Given the description of an element on the screen output the (x, y) to click on. 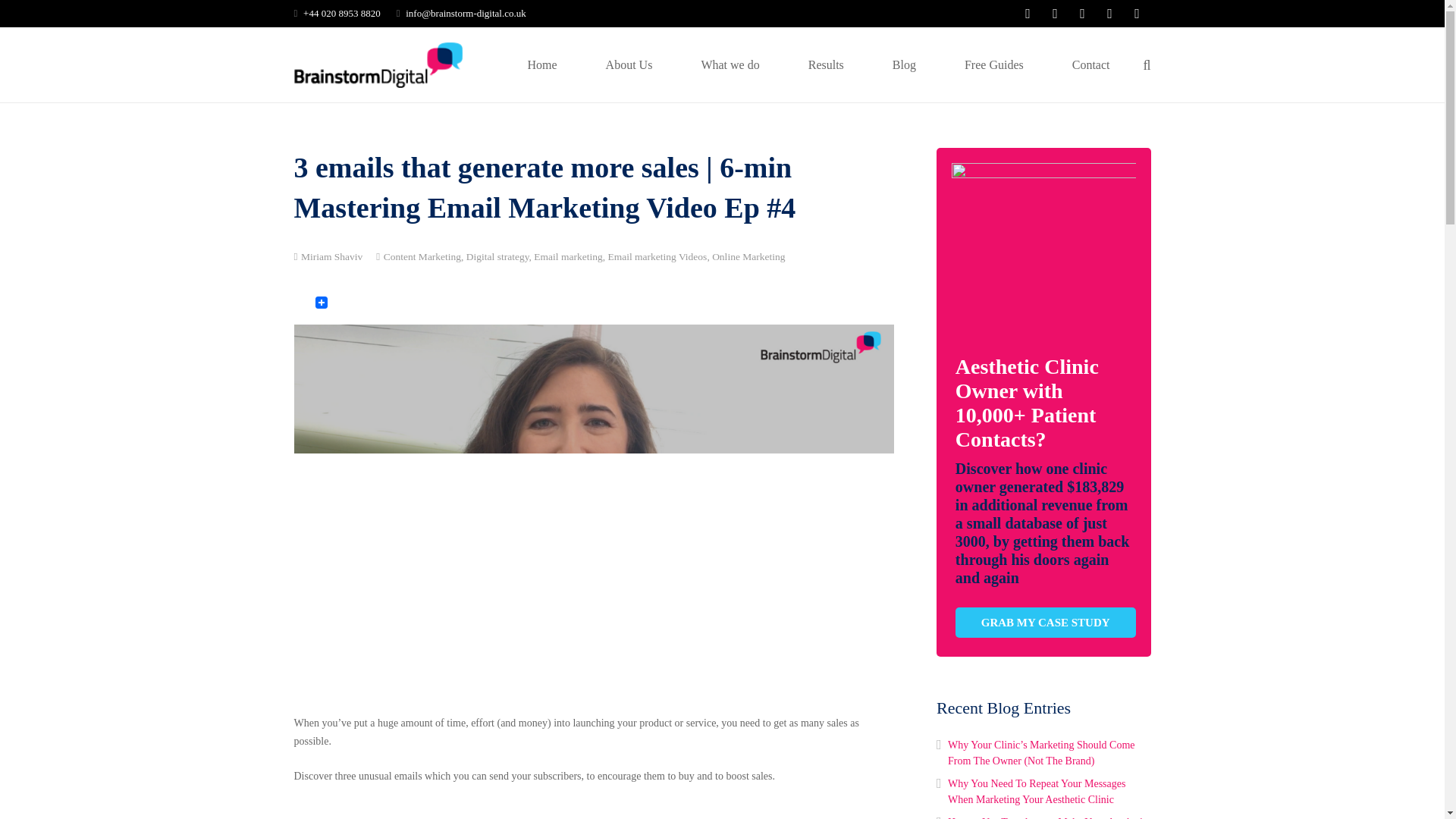
Content Marketing (422, 256)
Miriam Shaviv (331, 256)
Digital strategy (497, 256)
Email marketing Videos (656, 256)
Free Guides (994, 64)
Blog (903, 64)
What we do (730, 64)
About Us (628, 64)
Email marketing (568, 256)
Online Marketing (747, 256)
